Given the description of an element on the screen output the (x, y) to click on. 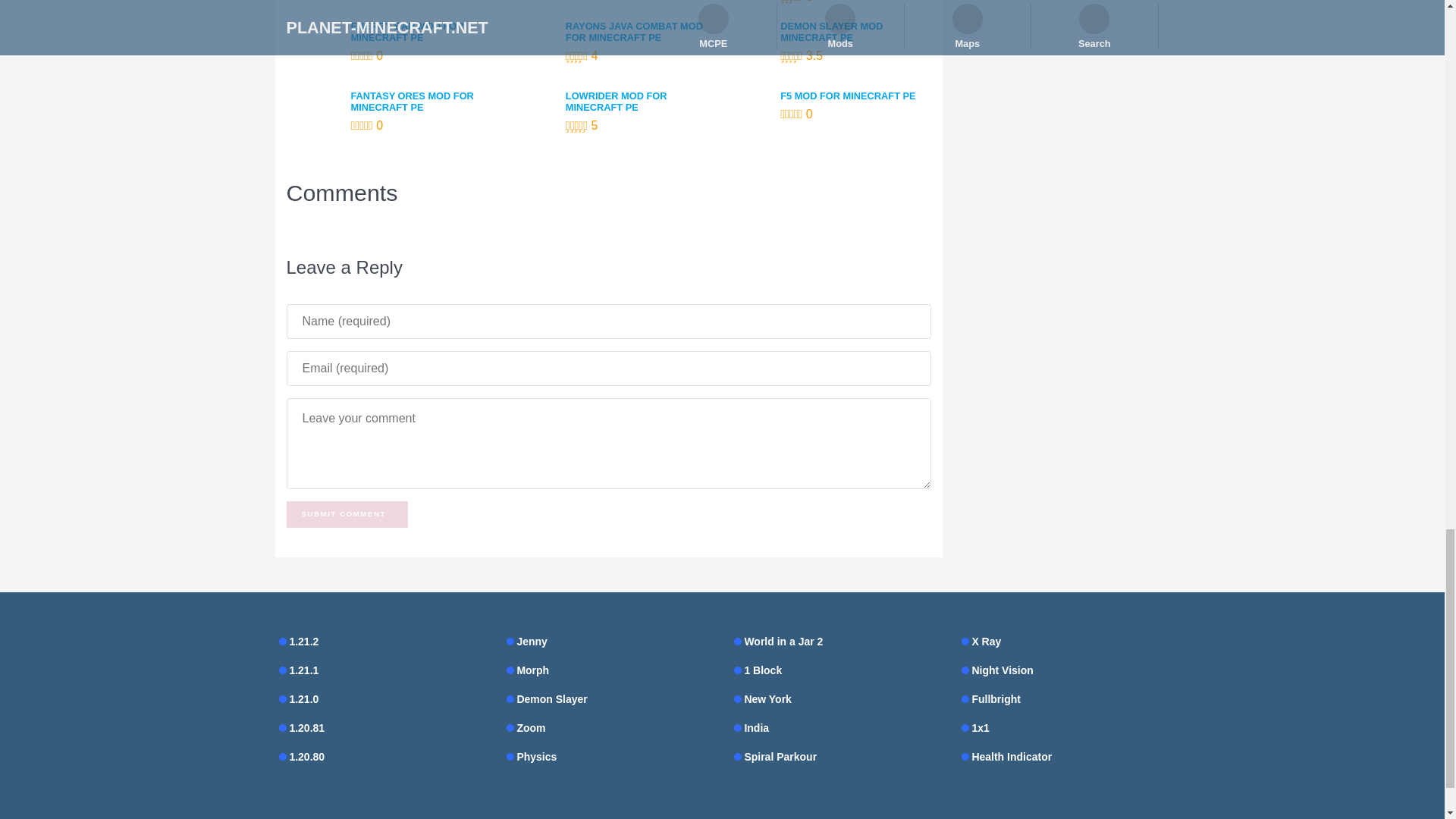
1.21.1 (381, 670)
Submit Comment (346, 514)
1.20.80 (381, 756)
1.21.0 (381, 699)
1.20.81 (381, 727)
1.21.2 (381, 640)
Jenny (608, 640)
